Given the description of an element on the screen output the (x, y) to click on. 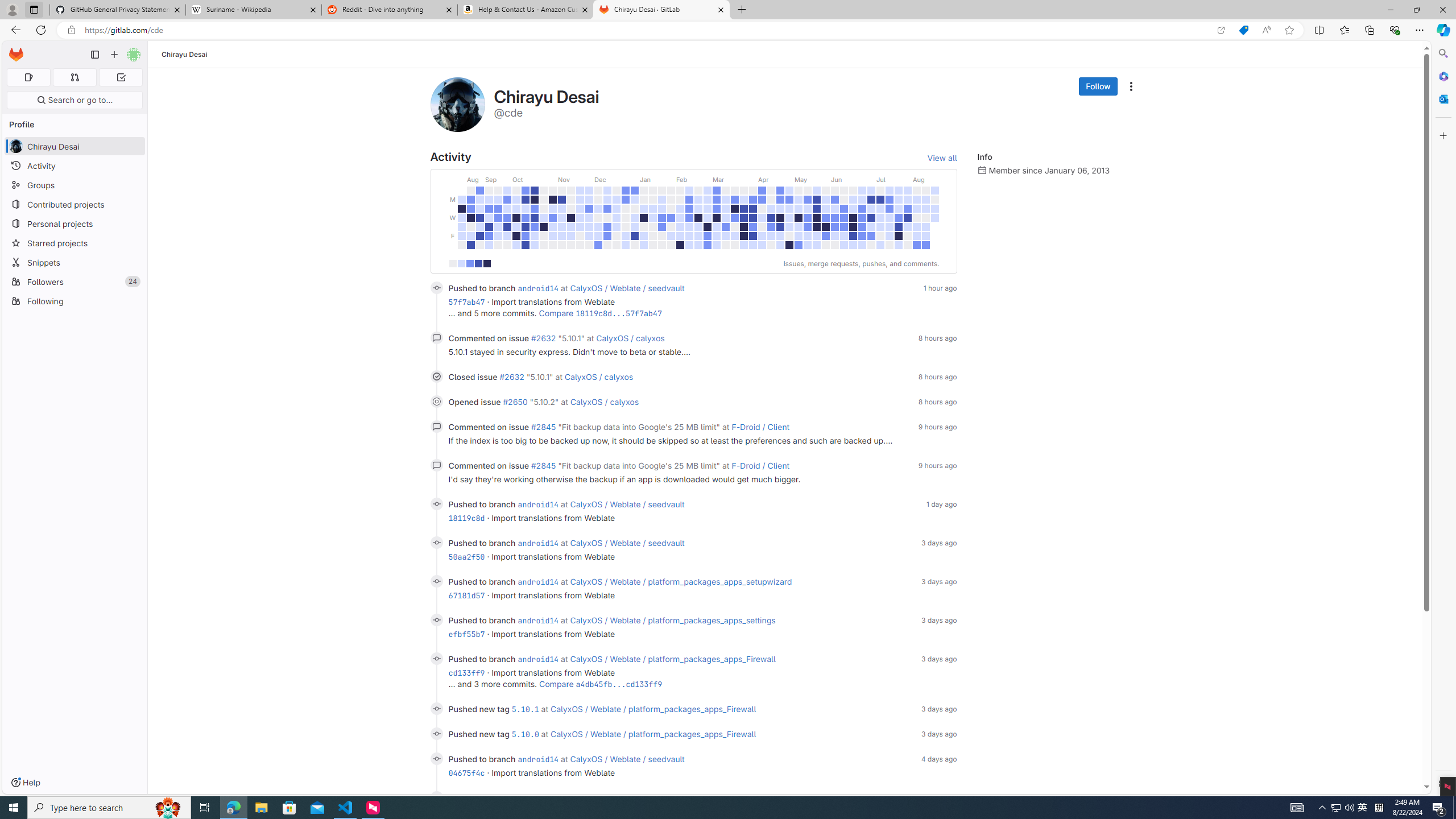
Shopping in Microsoft Edge (1243, 29)
